Given the description of an element on the screen output the (x, y) to click on. 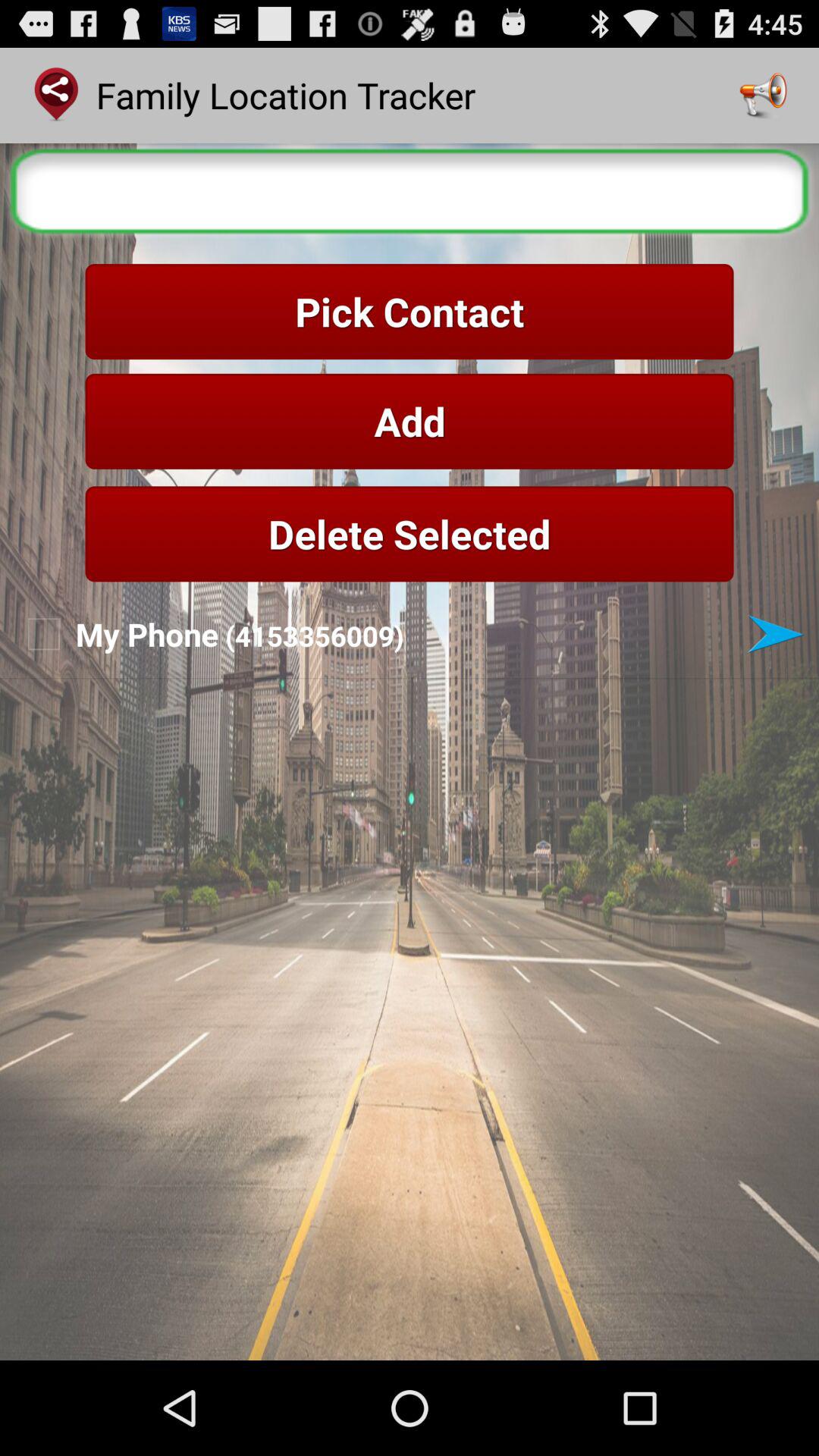
next (775, 634)
